Given the description of an element on the screen output the (x, y) to click on. 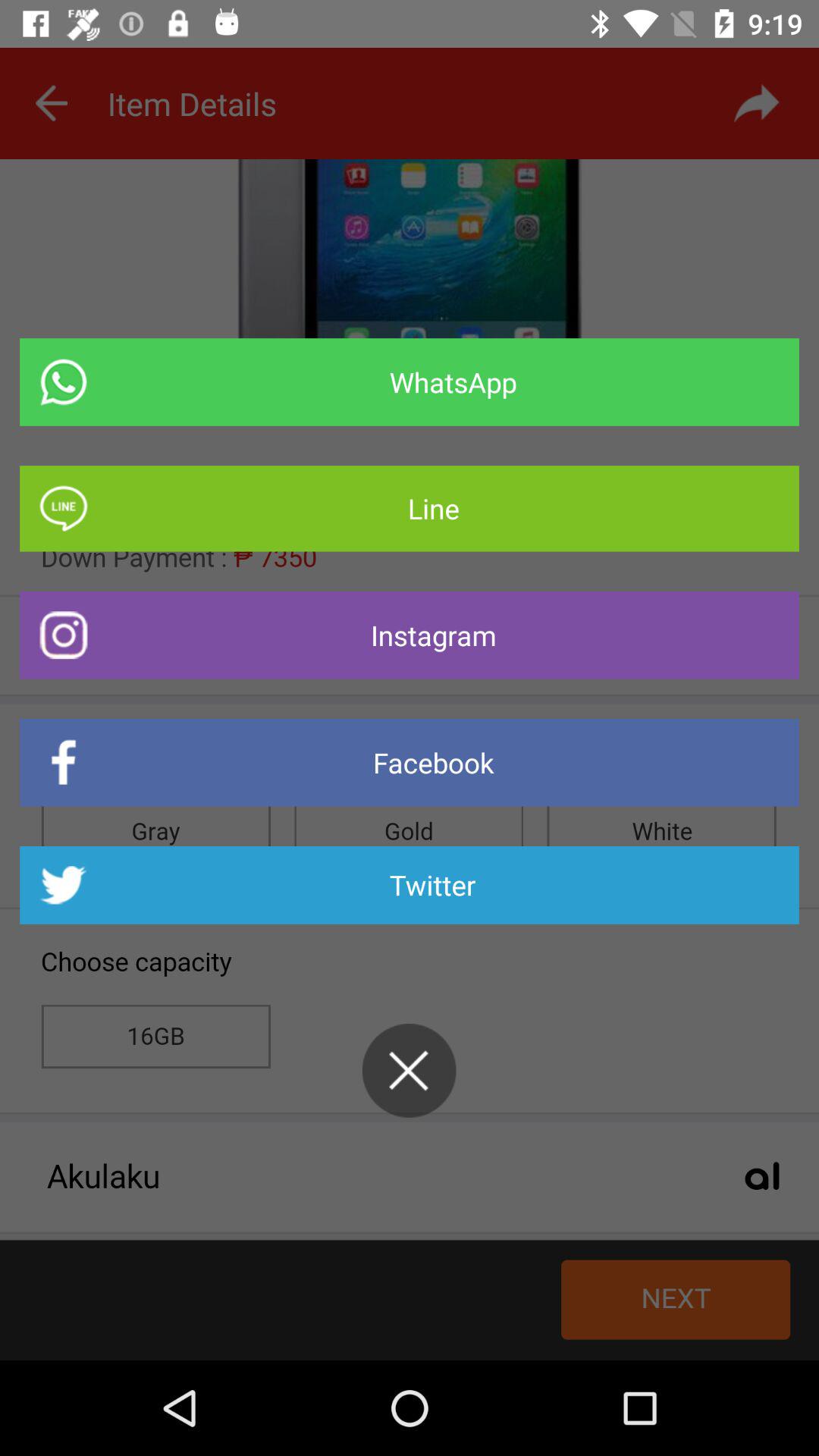
turn off the item below instagram item (409, 762)
